Given the description of an element on the screen output the (x, y) to click on. 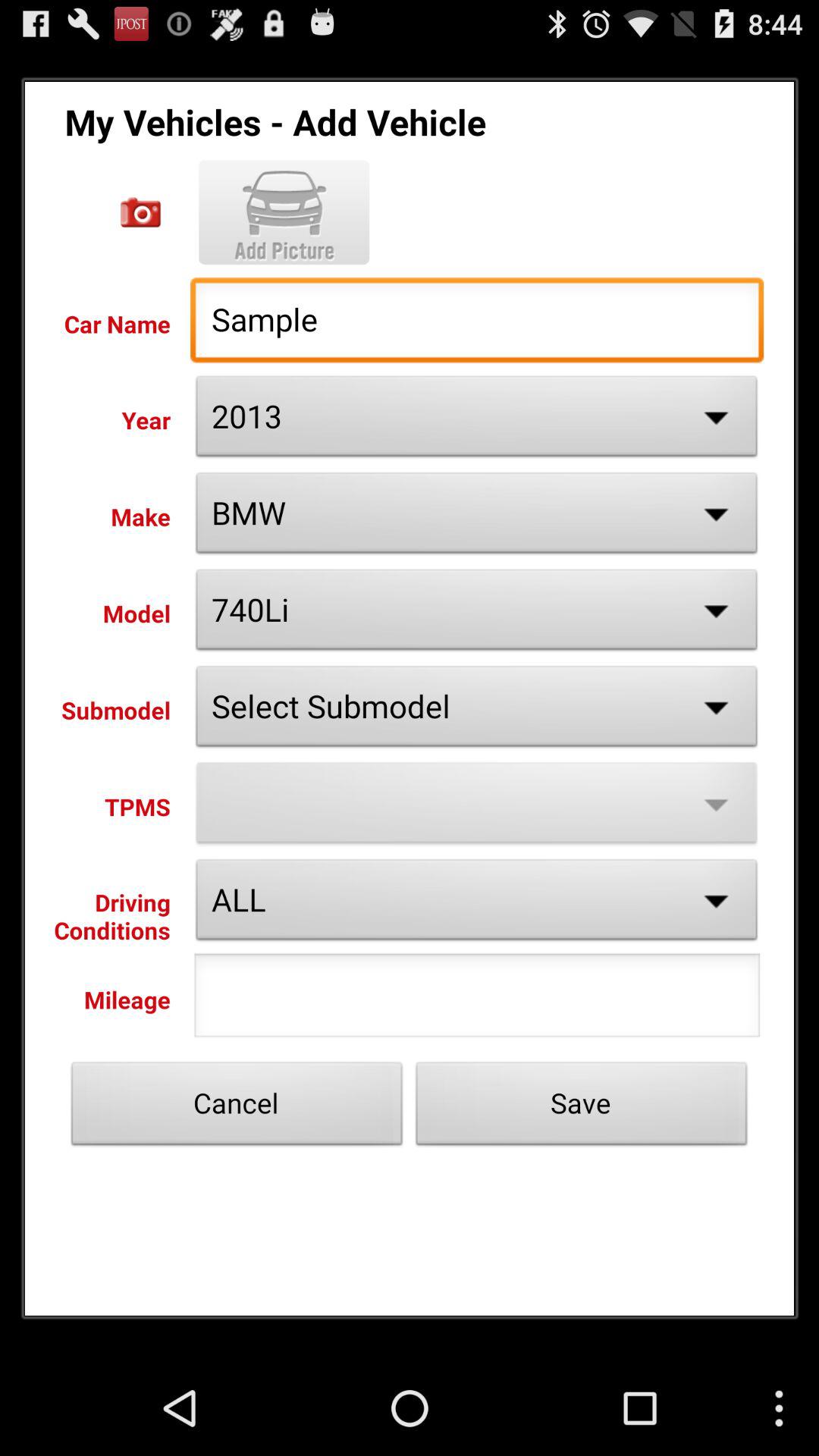
toggle the clipping option (140, 212)
